Given the description of an element on the screen output the (x, y) to click on. 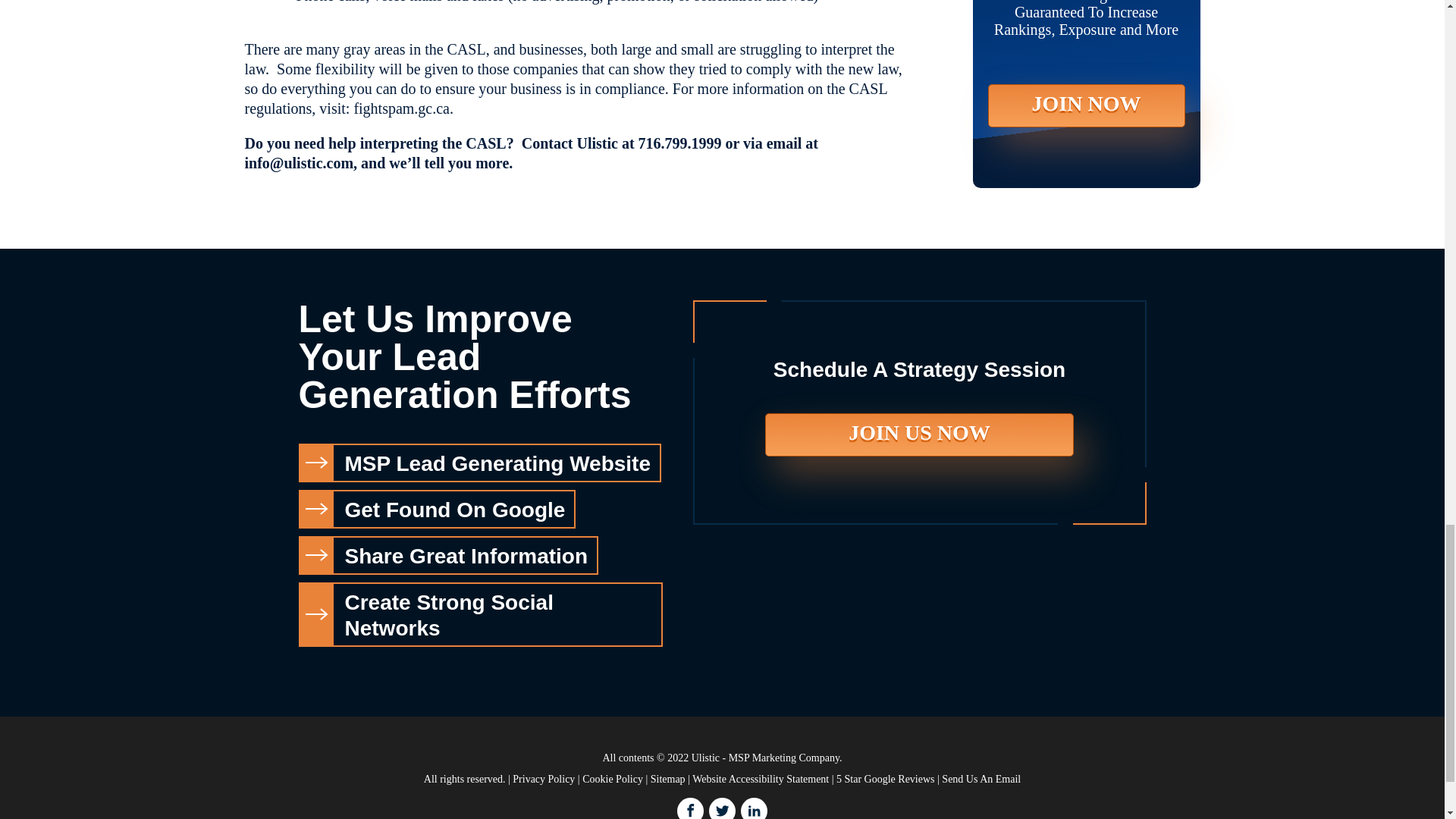
JOIN US NOW (919, 434)
Website Accessibility Statement (760, 778)
Sitemap (667, 778)
5 Star Google Reviews (884, 778)
Privacy Policy (543, 778)
Send Us An Email (981, 778)
Cookie Policy (612, 778)
